Given the description of an element on the screen output the (x, y) to click on. 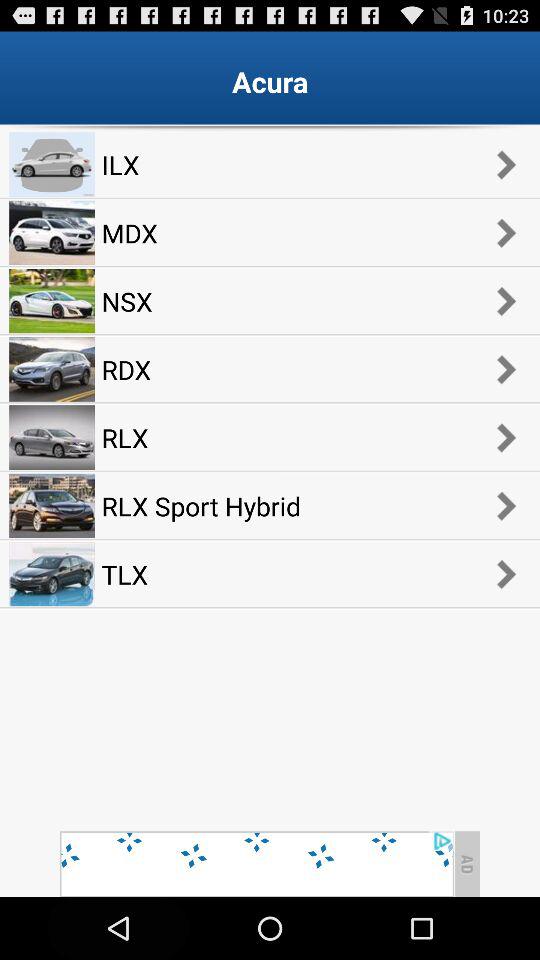
open an advertisements (256, 864)
